Given the description of an element on the screen output the (x, y) to click on. 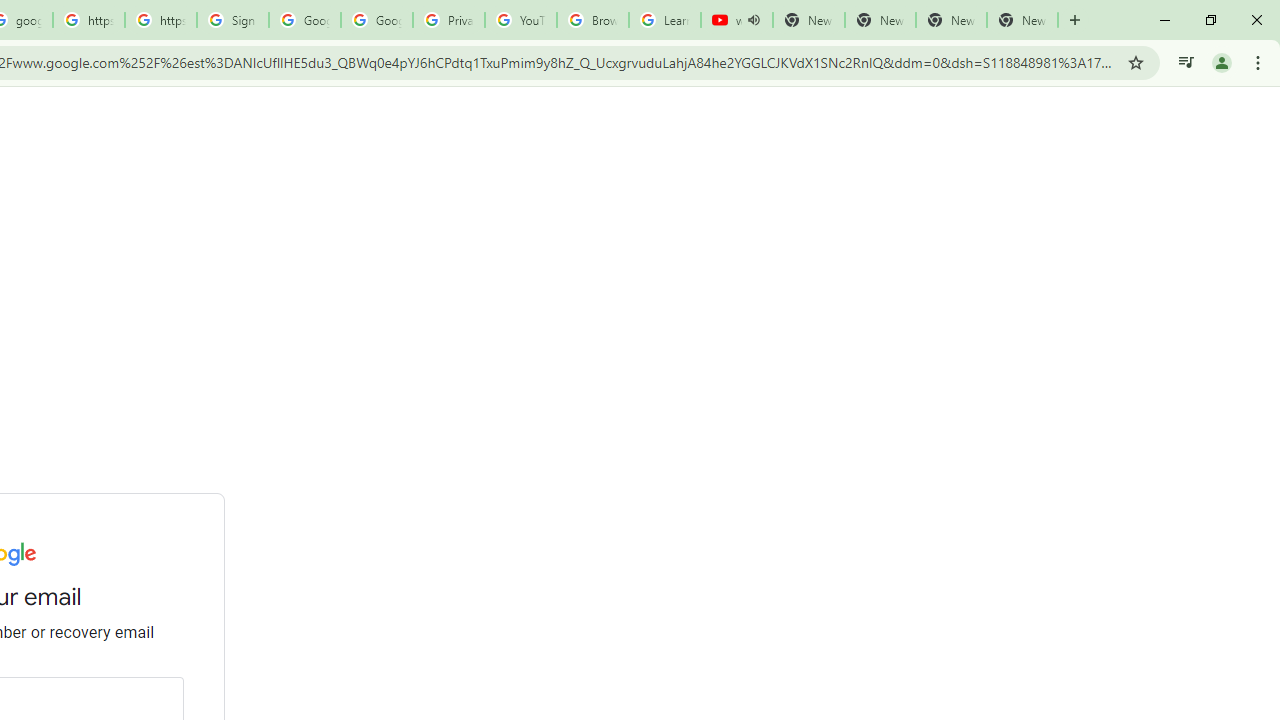
Sign in - Google Accounts (232, 20)
Browse Chrome as a guest - Computer - Google Chrome Help (592, 20)
YouTube (520, 20)
https://scholar.google.com/ (88, 20)
